Given the description of an element on the screen output the (x, y) to click on. 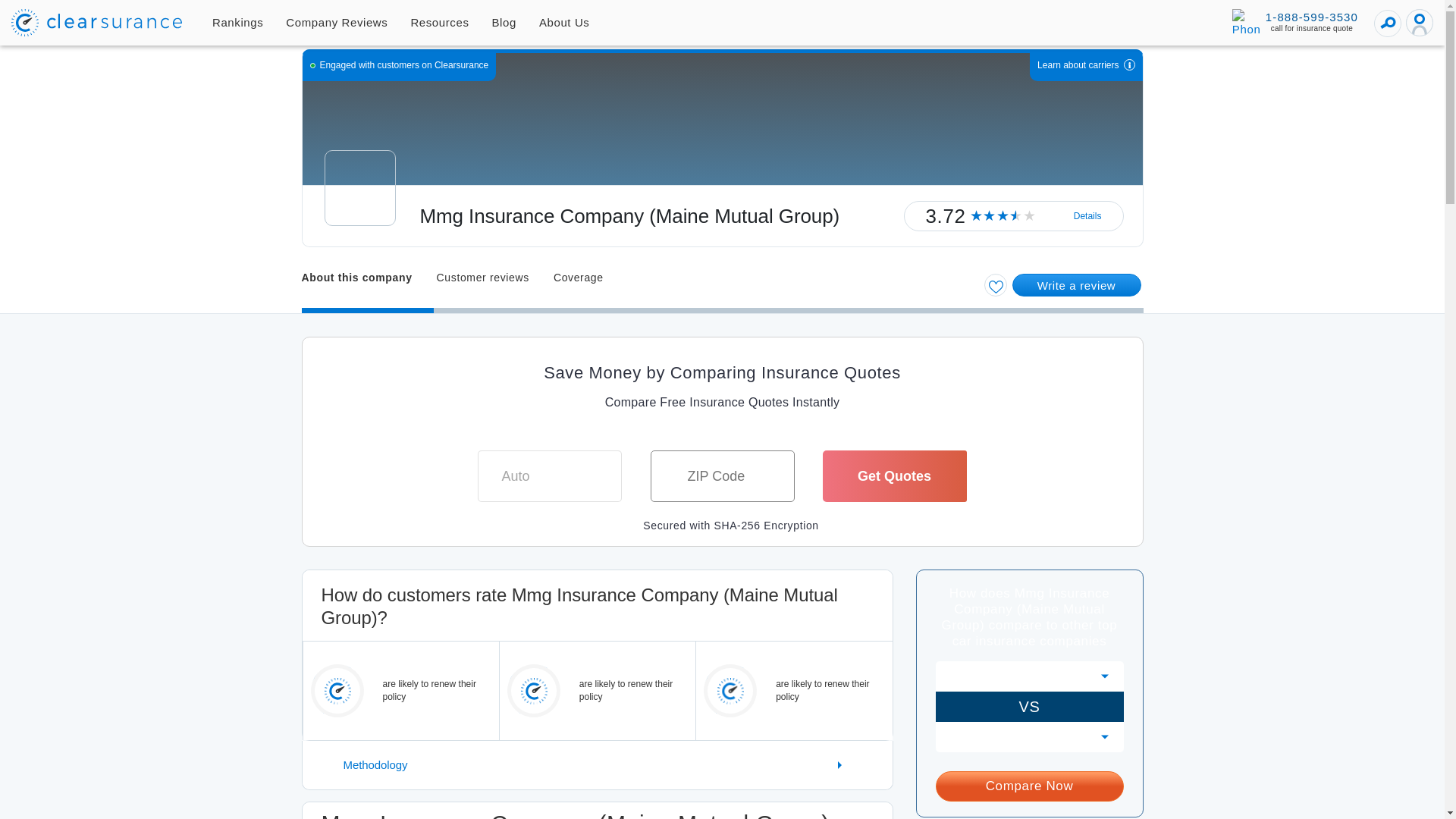
Search (1388, 23)
About Us (564, 22)
Company Reviews (336, 22)
Home (96, 22)
Get Quotes (894, 476)
Resources (439, 22)
Call for insurance quote (1294, 22)
Rankings (237, 22)
